Given the description of an element on the screen output the (x, y) to click on. 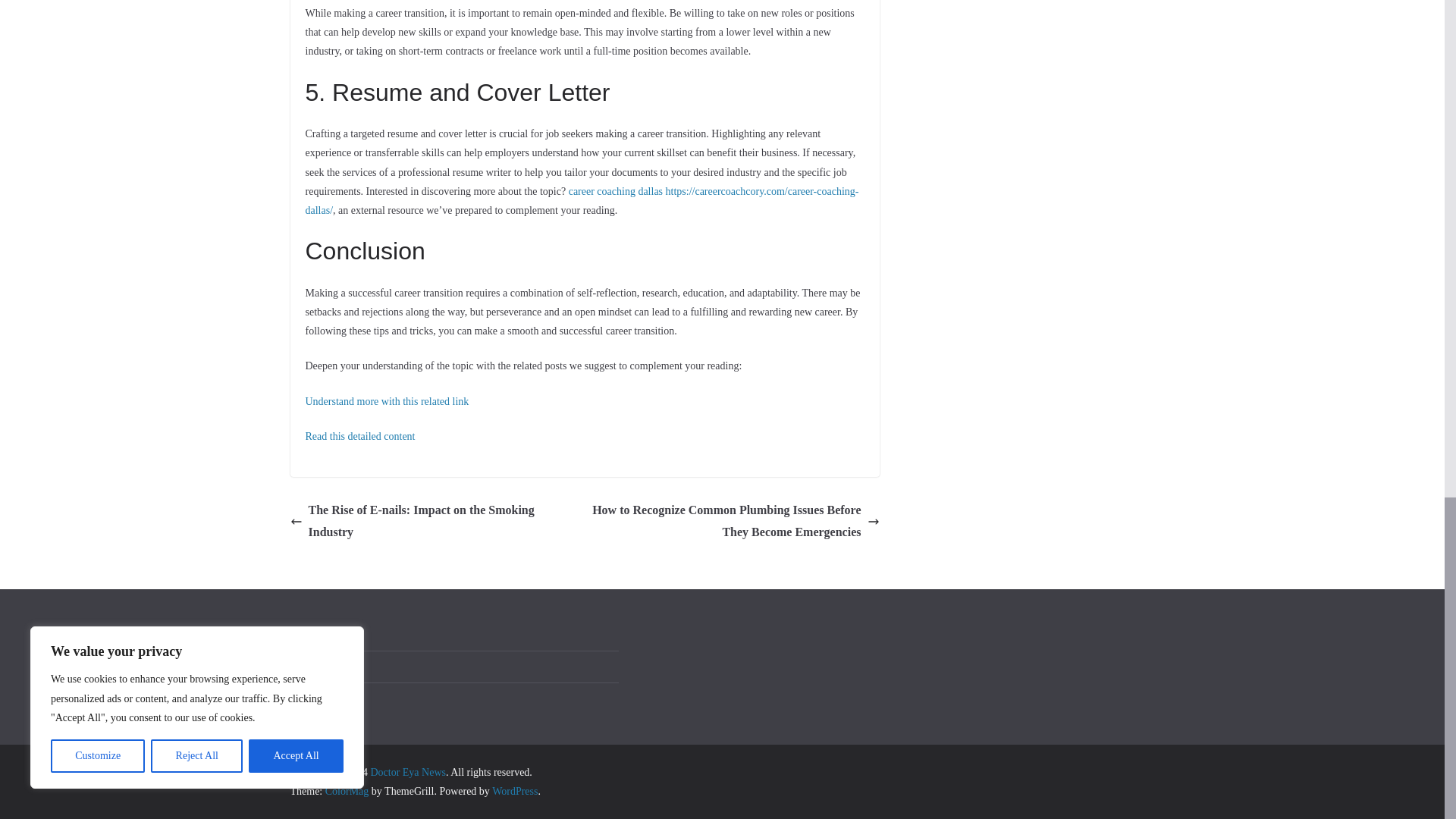
WordPress (514, 790)
Understand more with this related link (386, 401)
The Rise of E-nails: Impact on the Smoking Industry (432, 521)
ColorMag (346, 790)
Read this detailed content (359, 436)
Doctor Eya News (407, 772)
